Given the description of an element on the screen output the (x, y) to click on. 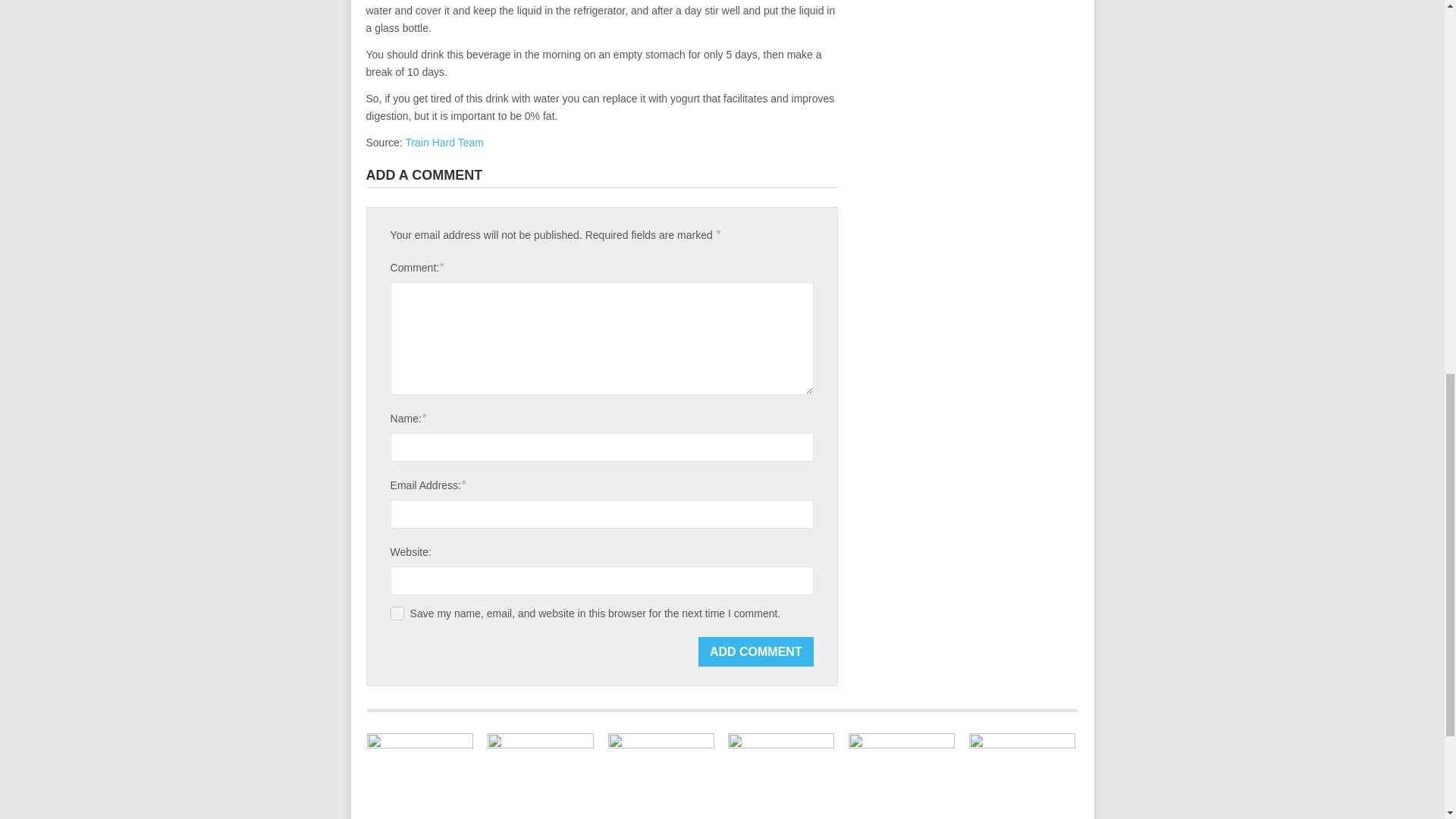
yes (397, 612)
SCULPT YOUR INNER THIGHS FAST: 6 MUST-DO EXERCISES (781, 776)
Train Hard Team (443, 142)
6 EASY EXERCISES TO BANISH FLABBY ARMS FOR GOOD (901, 776)
HOW TO TURN ON THE WEIGHT LOSS HORMONES (540, 776)
How to Turn On the Weight Loss Hormones (540, 776)
6 Easy Exercises to Banish Flabby Arms for Good (901, 776)
Add Comment (755, 651)
